Given the description of an element on the screen output the (x, y) to click on. 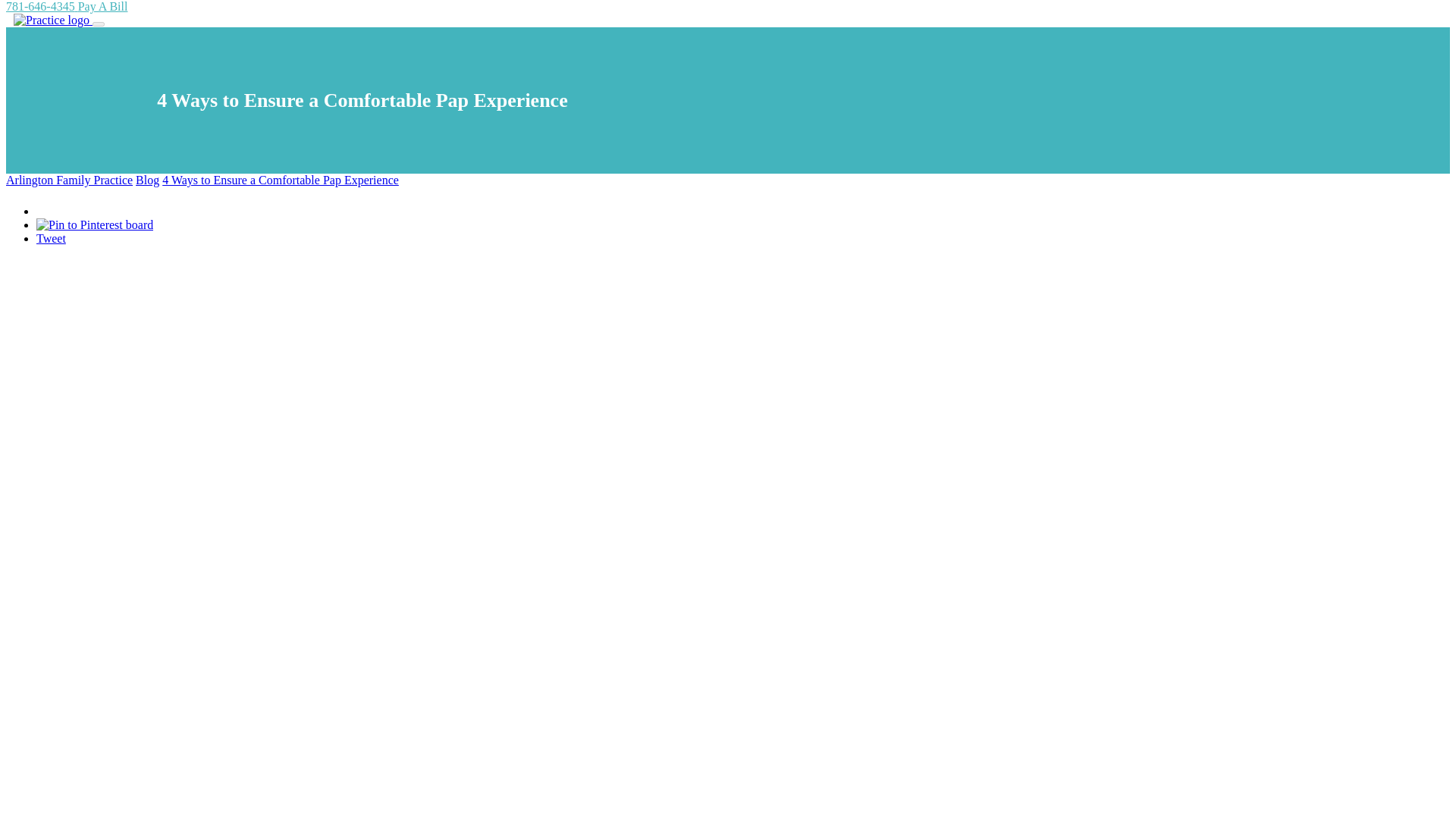
Arlington Family Practice (68, 179)
Pay A Bill (103, 6)
Tweet (50, 237)
Facebook social button (89, 207)
Blog (146, 179)
4 Ways to Ensure a Comfortable Pap Experience (279, 179)
781-646-4345 (41, 6)
